Given the description of an element on the screen output the (x, y) to click on. 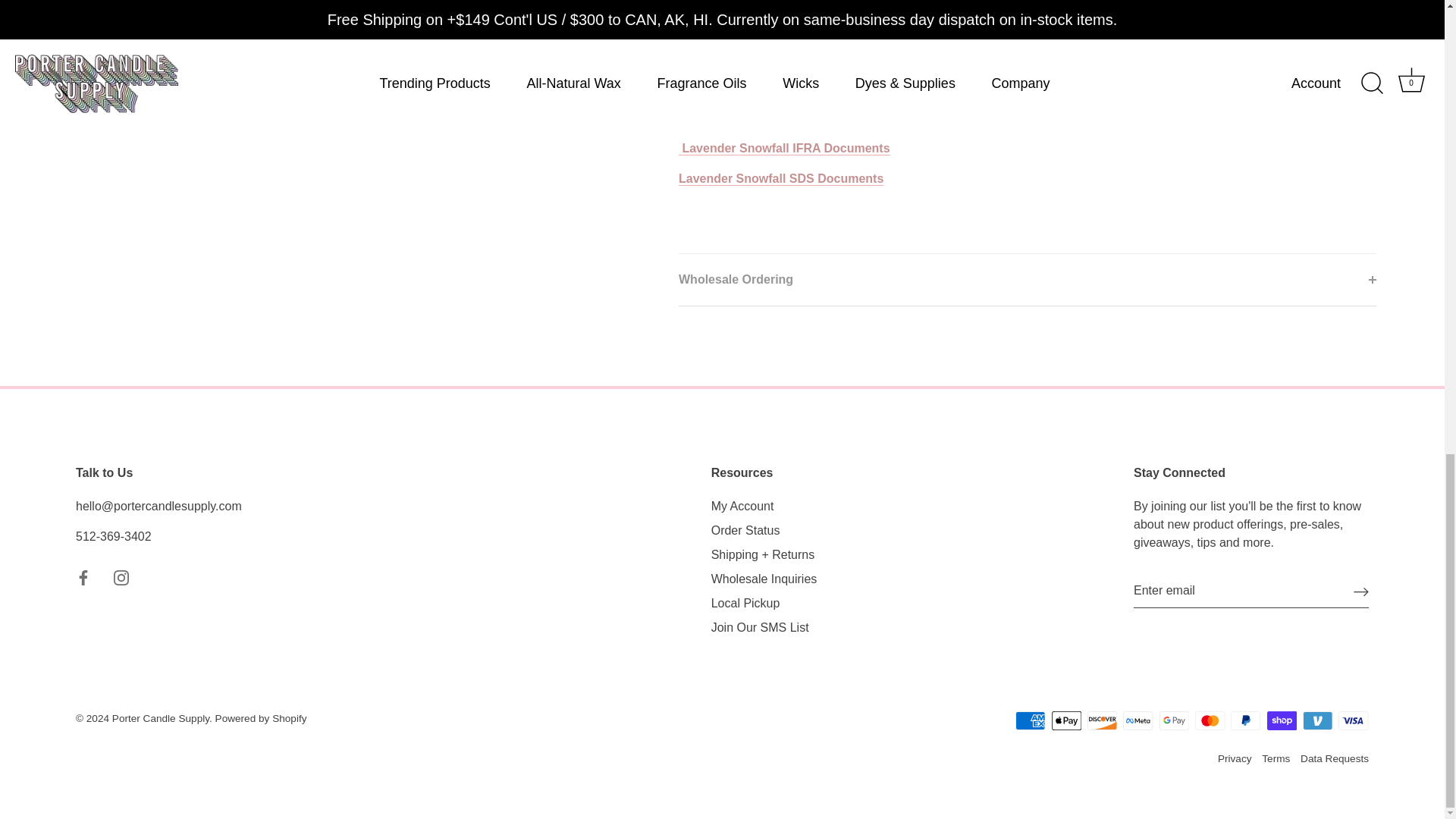
Discover (1101, 720)
Shop Pay (1281, 720)
PayPal (1245, 720)
Apple Pay (1066, 720)
Right arrow long (1361, 590)
Google Pay (1173, 720)
Instagram (121, 577)
Lavender Snowfall IFRA Documents (783, 148)
Visa (1353, 720)
Lavender Snowfall SDS Documents (780, 178)
Meta Pay (1137, 720)
American Express (1029, 720)
Mastercard (1209, 720)
Venmo (1317, 720)
